Given the description of an element on the screen output the (x, y) to click on. 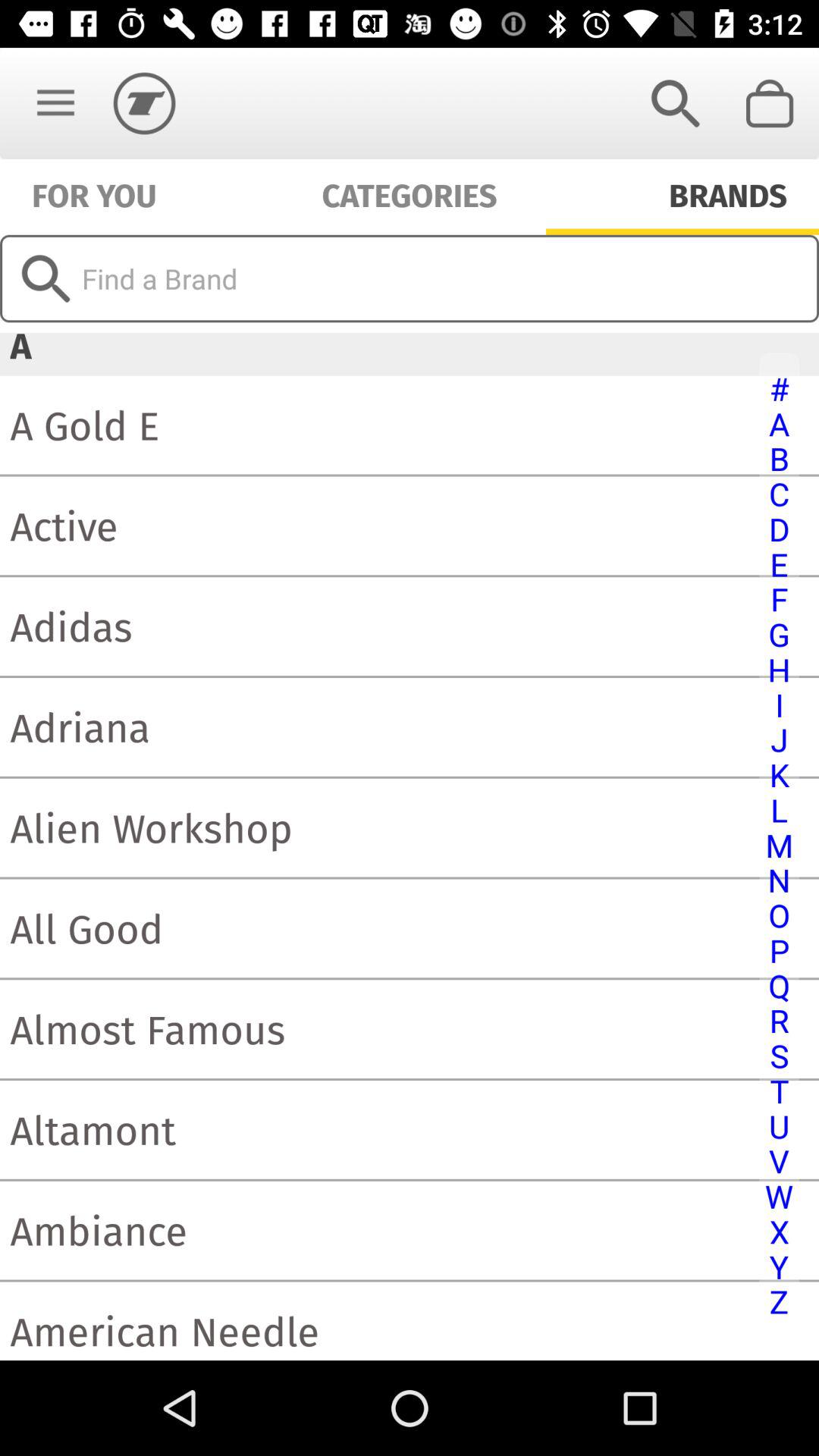
flip to categories item (409, 193)
